Given the description of an element on the screen output the (x, y) to click on. 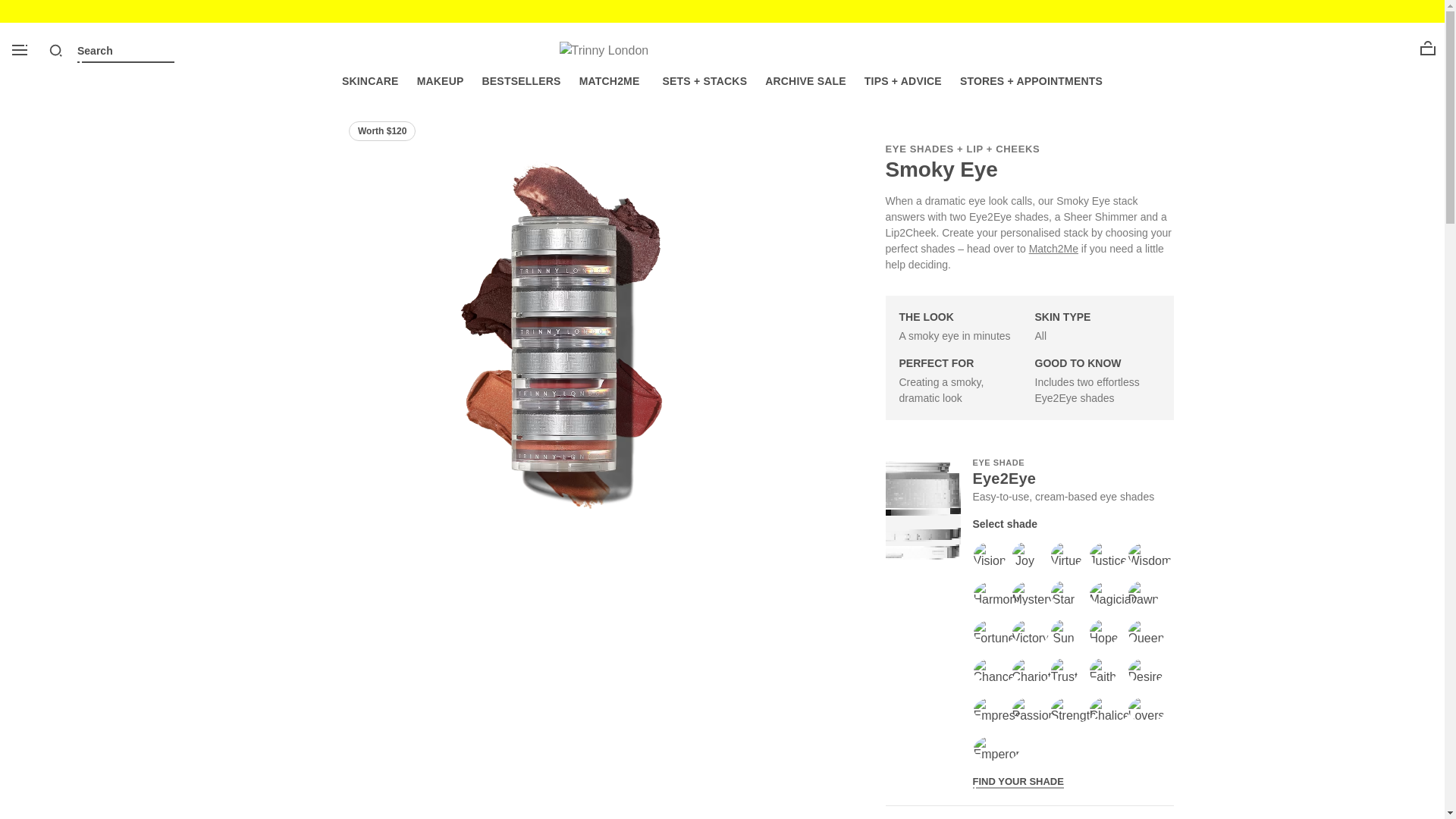
Harmony (986, 593)
Trust (1063, 671)
Virtue (1063, 554)
Hope (1102, 632)
Joy (1025, 554)
Search (55, 50)
Victory (1025, 632)
Justice (1102, 554)
Magician (1102, 593)
Queen (1140, 632)
